Given the description of an element on the screen output the (x, y) to click on. 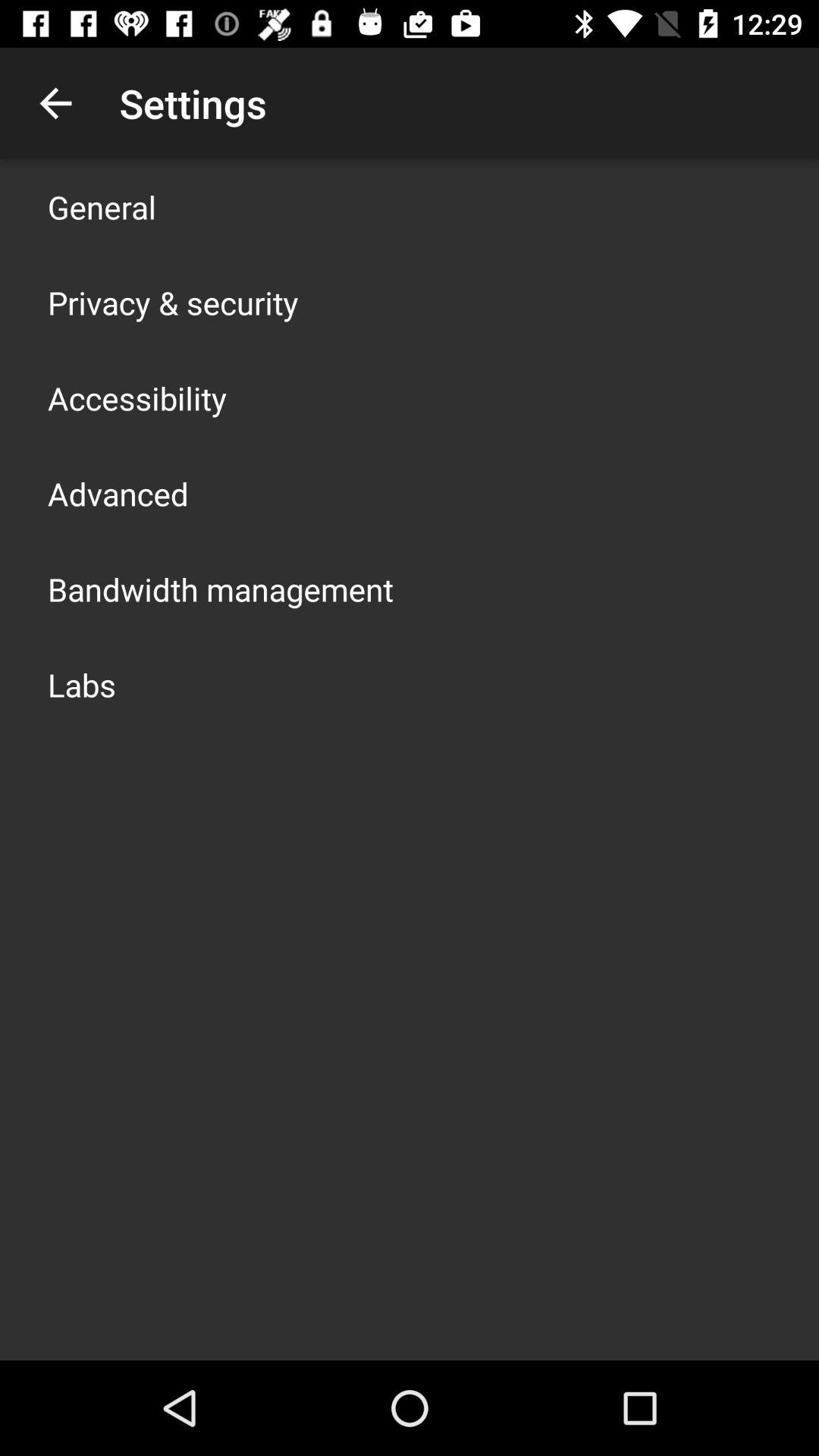
flip to the advanced icon (117, 493)
